Given the description of an element on the screen output the (x, y) to click on. 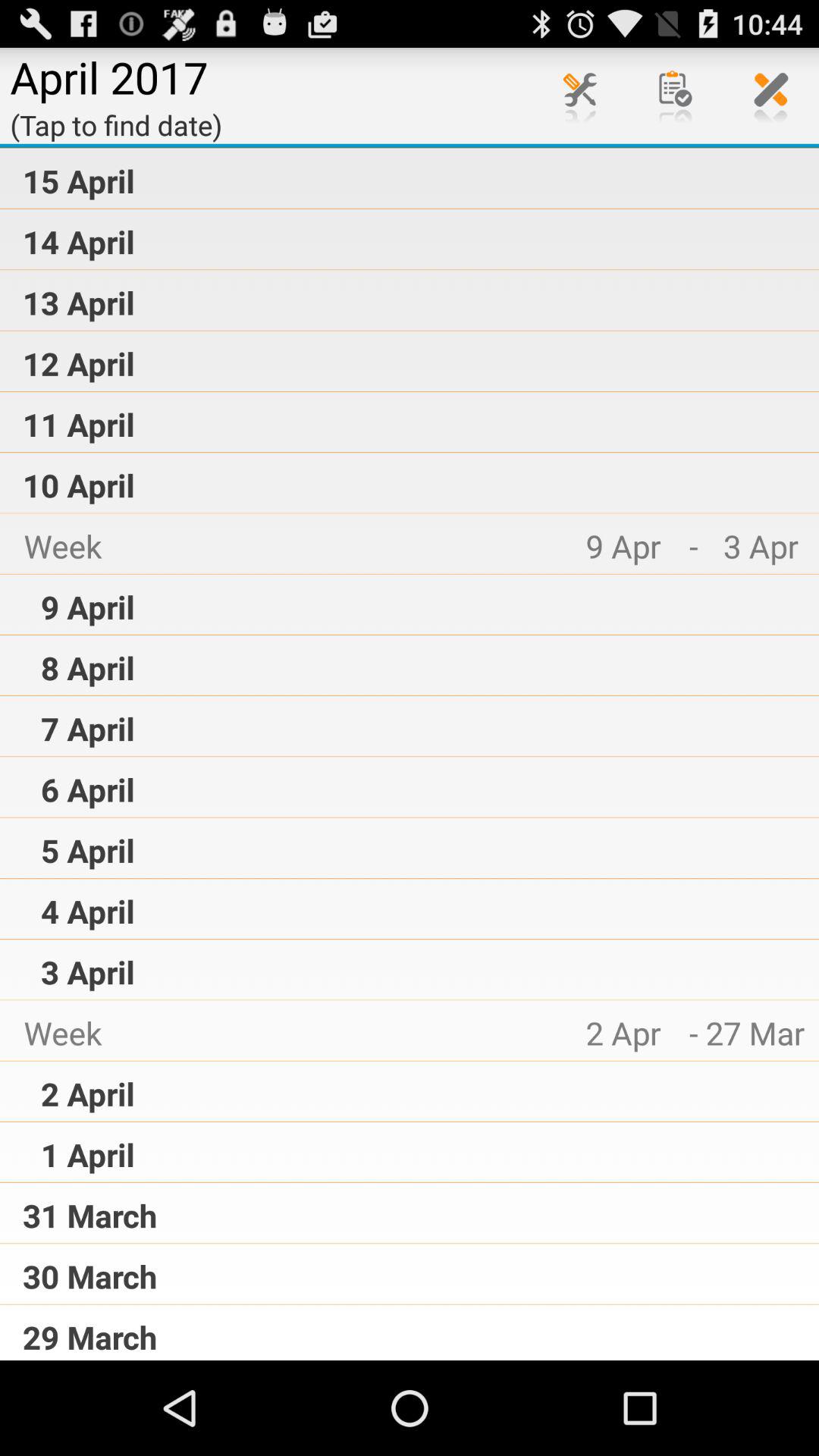
setting (579, 95)
